Given the description of an element on the screen output the (x, y) to click on. 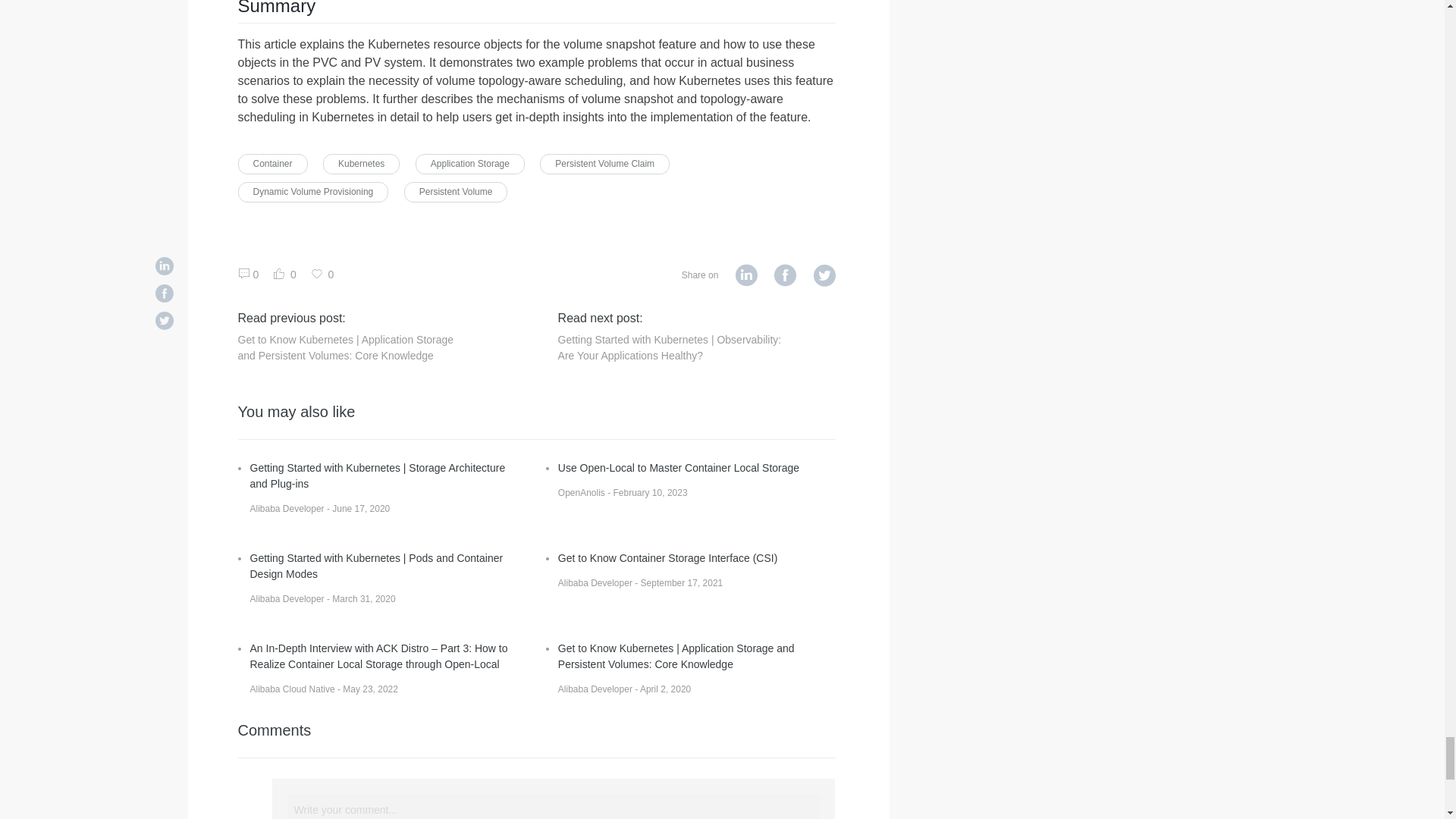
Kubernetes (360, 163)
Application Storage (469, 163)
Container (272, 163)
Persistent Volume Claim (604, 163)
